Given the description of an element on the screen output the (x, y) to click on. 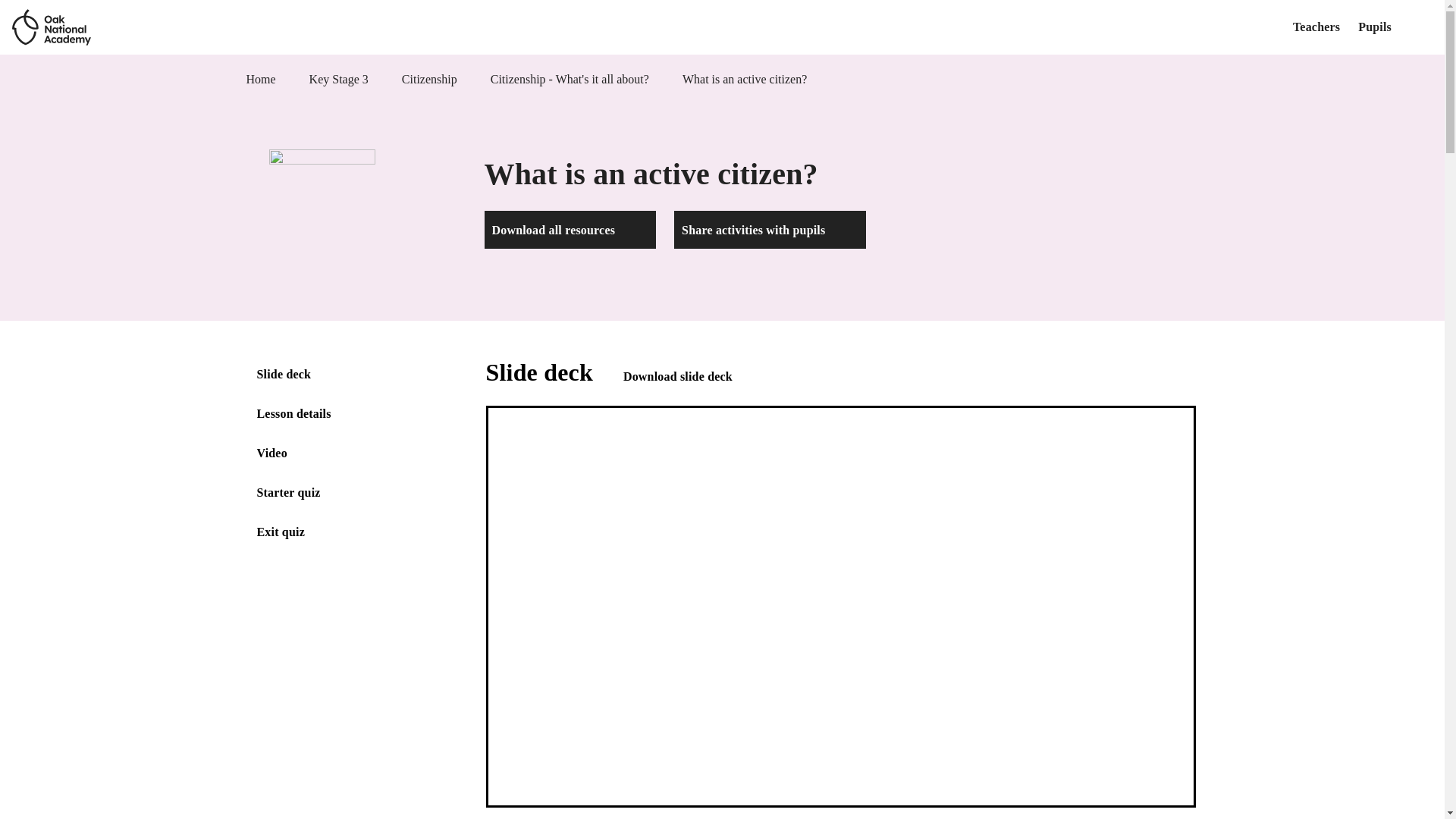
Menu (1420, 26)
Video (271, 452)
Download all resources (569, 229)
Teachers (1315, 27)
Download slide deck (691, 375)
Share activities with pupils (770, 229)
Lesson details (292, 412)
Citizenship (429, 78)
Oak National Academy (50, 27)
Citizenship - What's it all about? (569, 78)
